Given the description of an element on the screen output the (x, y) to click on. 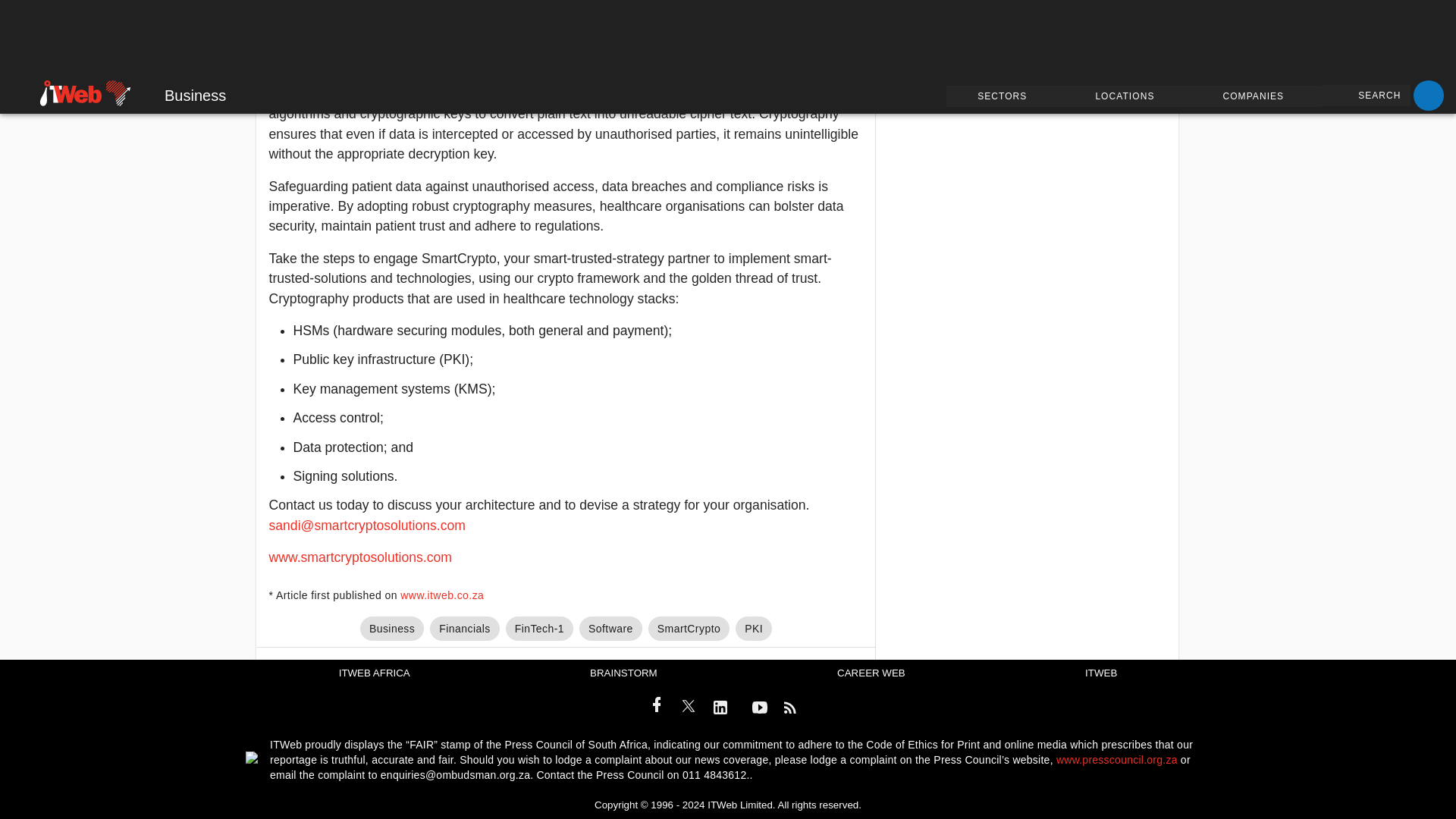
Software (610, 628)
BRAINSTORM (623, 672)
Facebook icon (656, 704)
Business (391, 628)
Financials (464, 628)
Linkedin icon (720, 707)
RSS icon (794, 708)
CAREER WEB (871, 672)
www.itweb.co.za (441, 594)
FinTech-1 (539, 628)
ITWEB AFRICA (374, 672)
Linkedin icon (724, 708)
PKI (753, 628)
RSS icon (789, 707)
ITWEB (1100, 672)
